Given the description of an element on the screen output the (x, y) to click on. 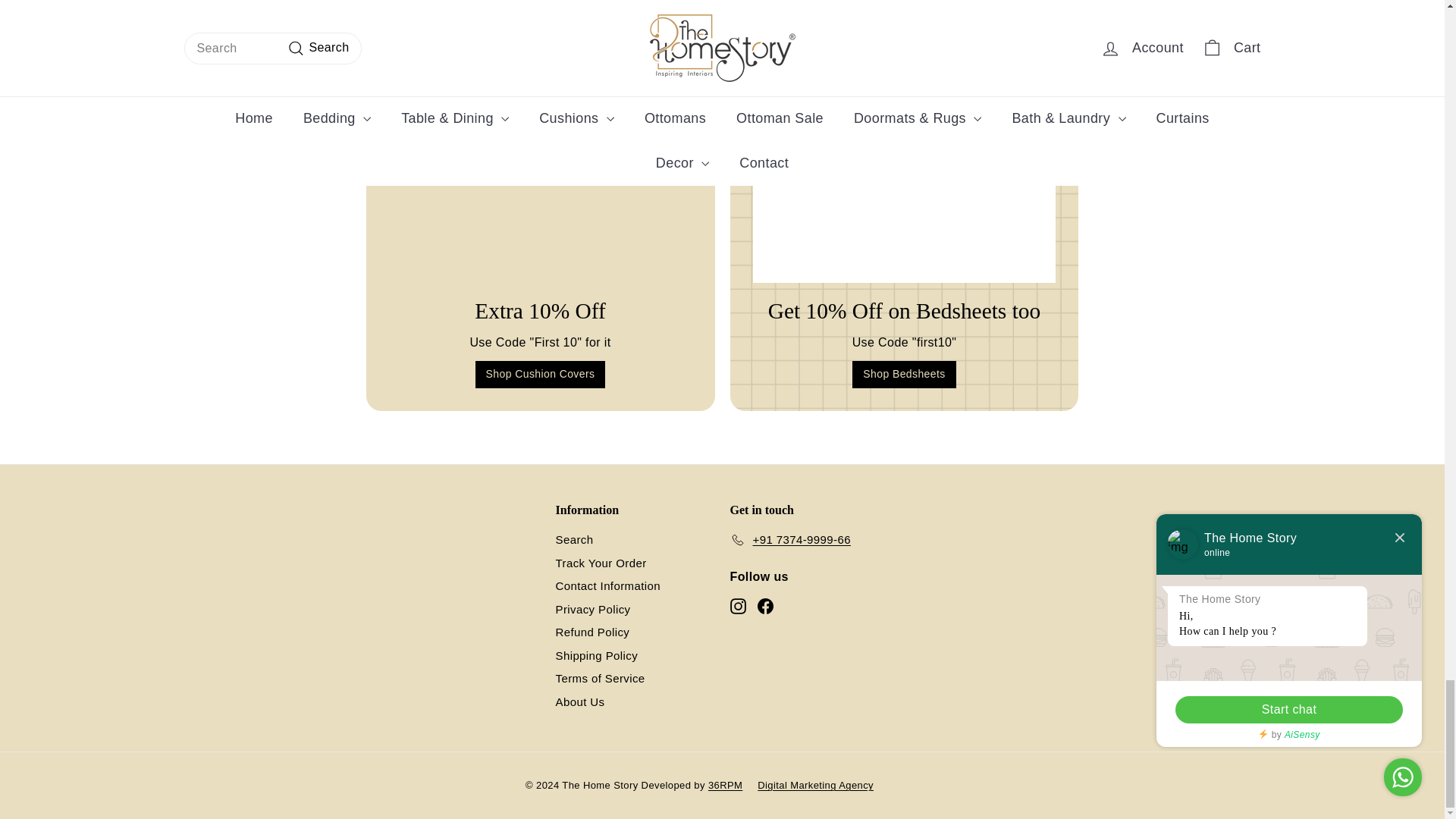
The Home Story  on Facebook (765, 606)
instagram (737, 606)
The Home Story  on Instagram (737, 606)
